Given the description of an element on the screen output the (x, y) to click on. 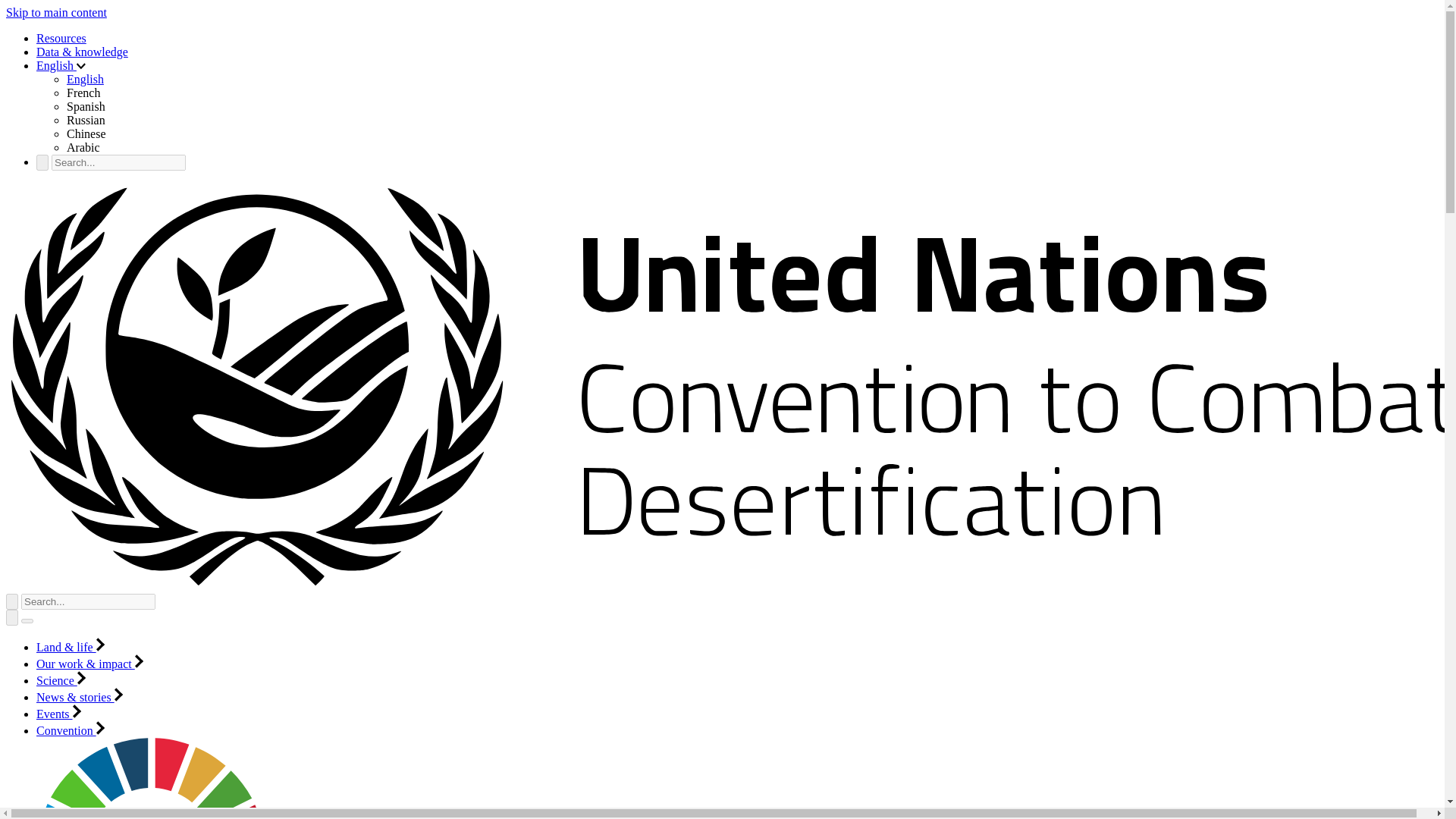
Skip to main content (55, 11)
Chinese (86, 133)
Science (60, 680)
French (83, 92)
Events (58, 713)
Arabic (83, 146)
Resources (60, 38)
Convention (70, 730)
English (84, 78)
Spanish (85, 106)
